Given the description of an element on the screen output the (x, y) to click on. 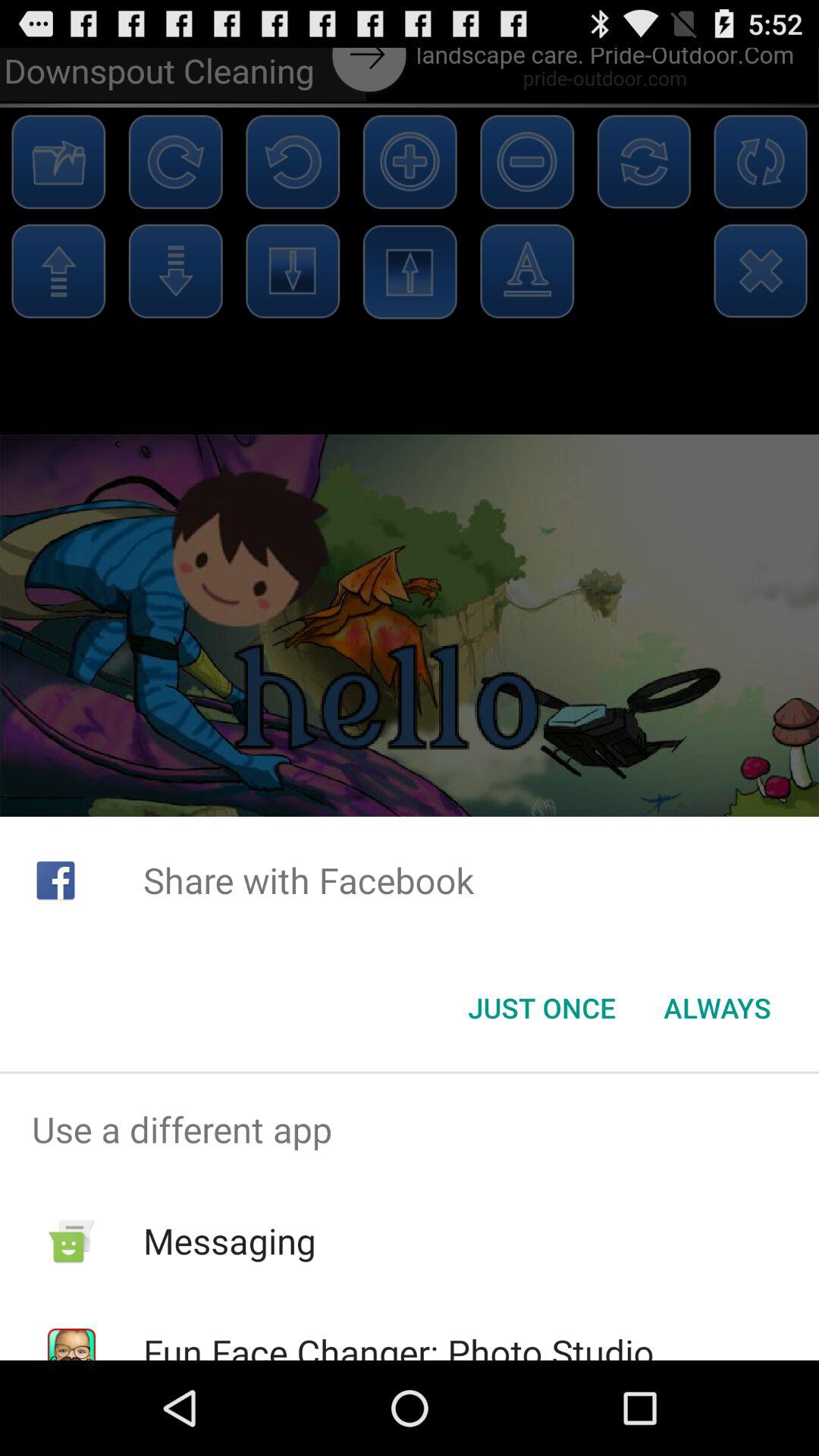
turn off the icon next to the always button (541, 1007)
